Given the description of an element on the screen output the (x, y) to click on. 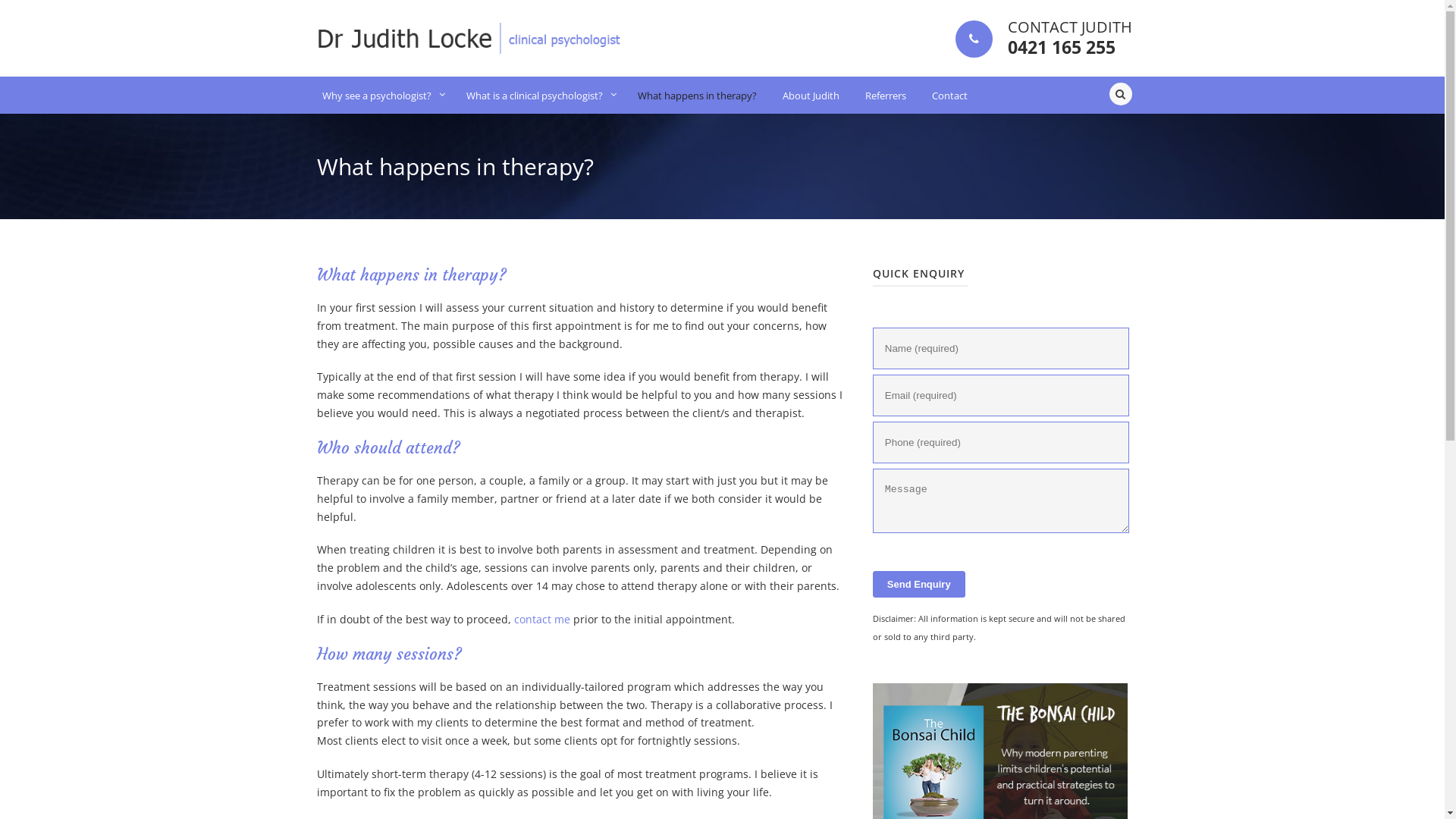
Contact Element type: text (944, 95)
Send Enquiry Element type: text (918, 584)
About Judith Element type: text (806, 95)
Referrers Element type: text (880, 95)
contact me Element type: text (542, 618)
What is a clinical psychologist? Element type: text (533, 95)
Why see a psychologist? Element type: text (378, 95)
What happens in therapy? Element type: text (691, 95)
0421 165 255 Element type: text (1060, 46)
